Given the description of an element on the screen output the (x, y) to click on. 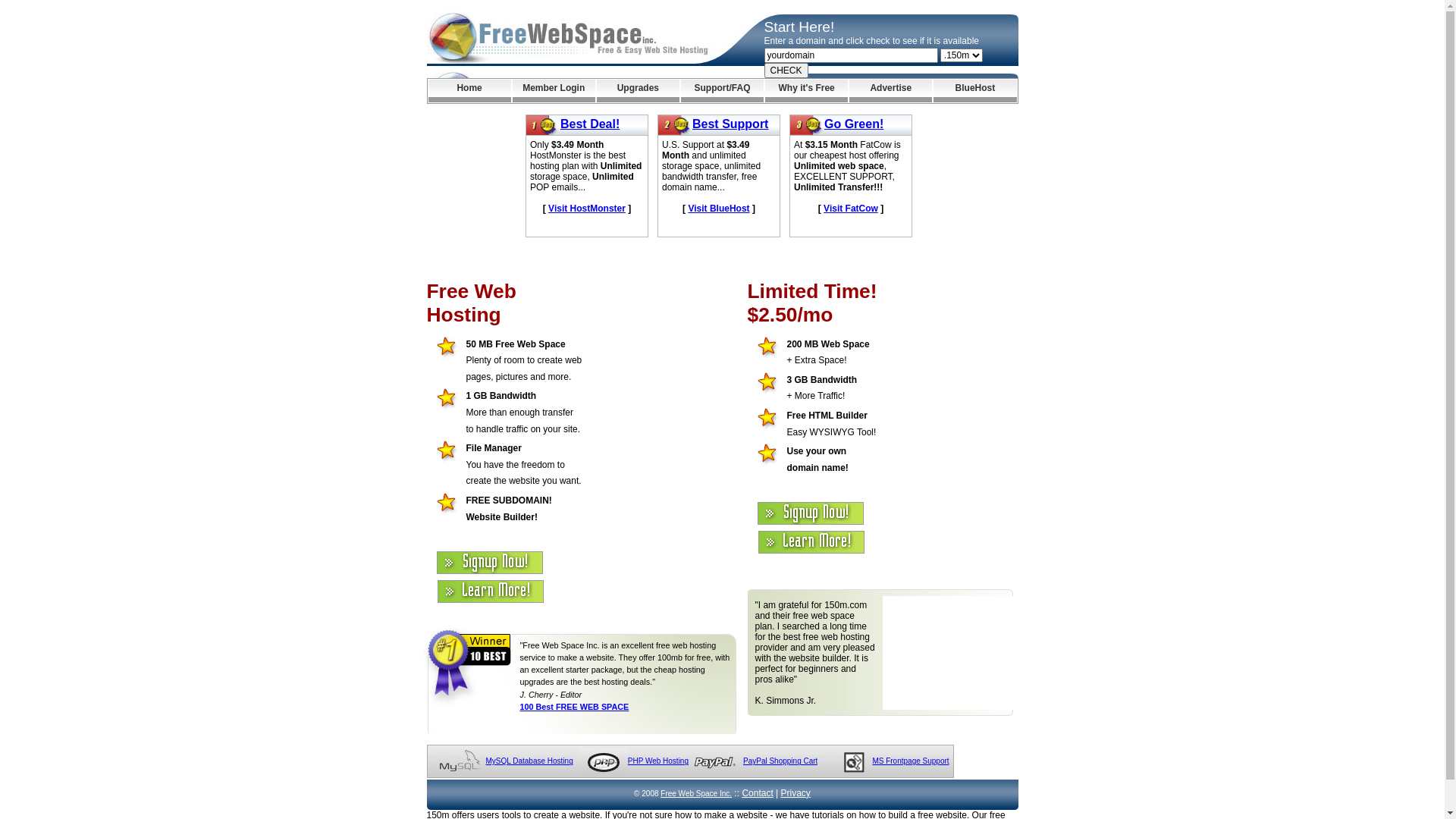
Why it's Free Element type: text (806, 90)
MySQL Database Hosting Element type: text (528, 760)
BlueHost Element type: text (974, 90)
CHECK Element type: text (786, 70)
Advertise Element type: text (890, 90)
MS Frontpage Support Element type: text (910, 760)
Upgrades Element type: text (637, 90)
Support/FAQ Element type: text (721, 90)
Member Login Element type: text (553, 90)
PHP Web Hosting Element type: text (657, 760)
100 Best FREE WEB SPACE Element type: text (574, 706)
Privacy Element type: text (795, 792)
PayPal Shopping Cart Element type: text (780, 760)
Home Element type: text (468, 90)
Contact Element type: text (756, 792)
Free Web Space Inc. Element type: text (695, 793)
